Given the description of an element on the screen output the (x, y) to click on. 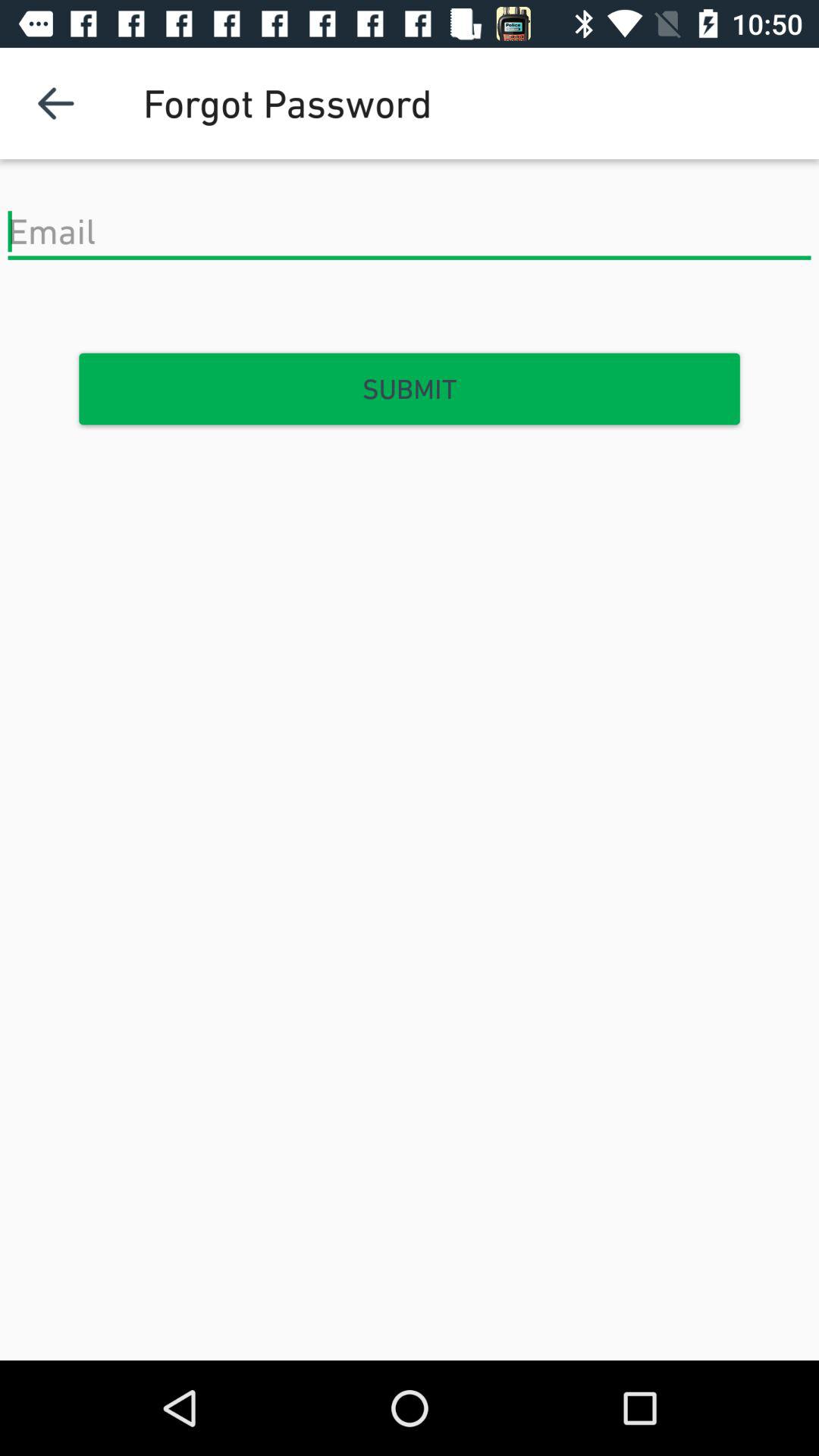
swipe until the submit (409, 388)
